Given the description of an element on the screen output the (x, y) to click on. 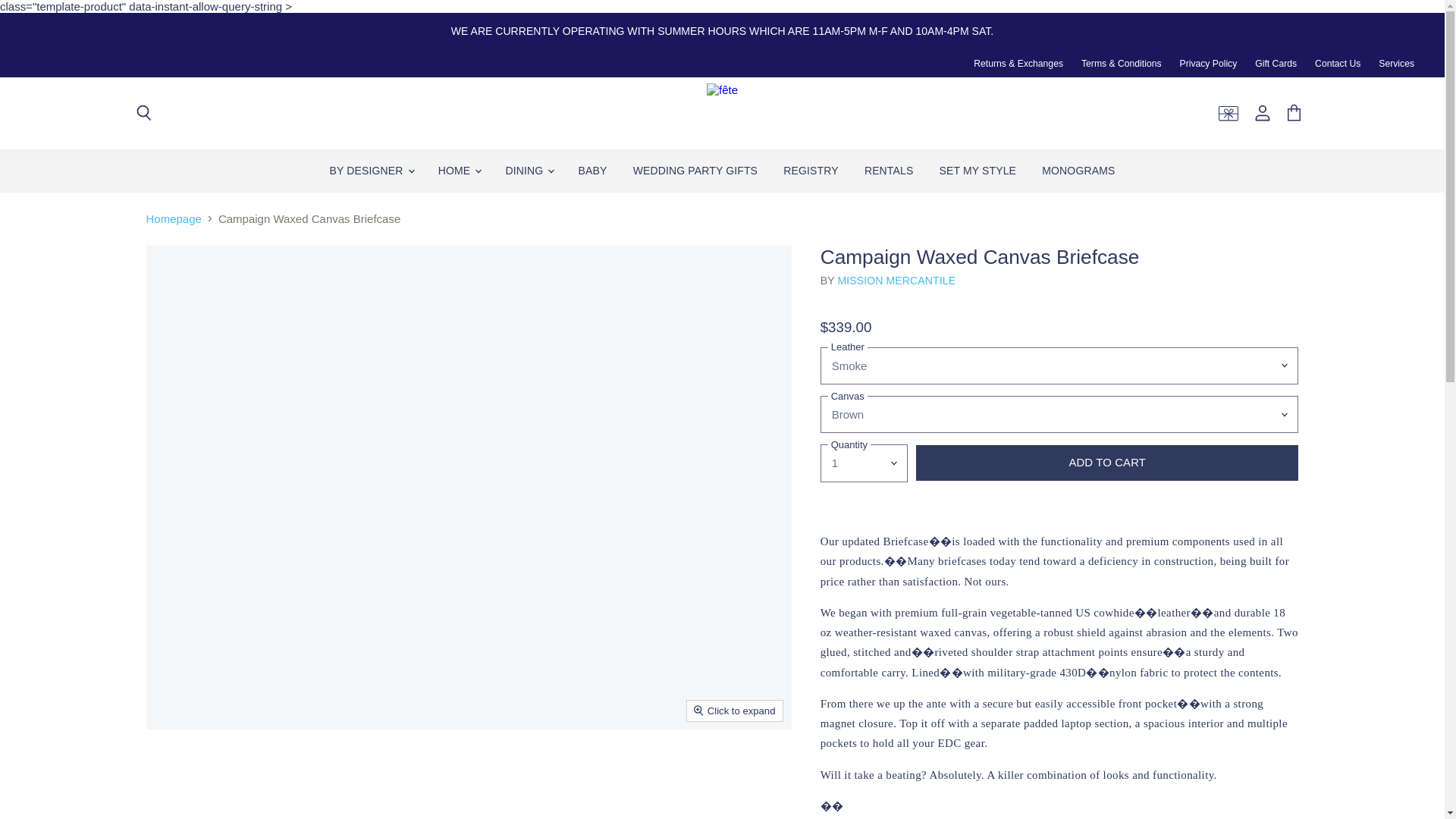
Create Registry (1228, 113)
Privacy Policy (1208, 63)
Contact Us (1336, 63)
Search (143, 113)
Gift Cards (1276, 63)
View account (1262, 113)
Services (1395, 63)
Mission Mercantile (896, 280)
BY DESIGNER (370, 170)
